Given the description of an element on the screen output the (x, y) to click on. 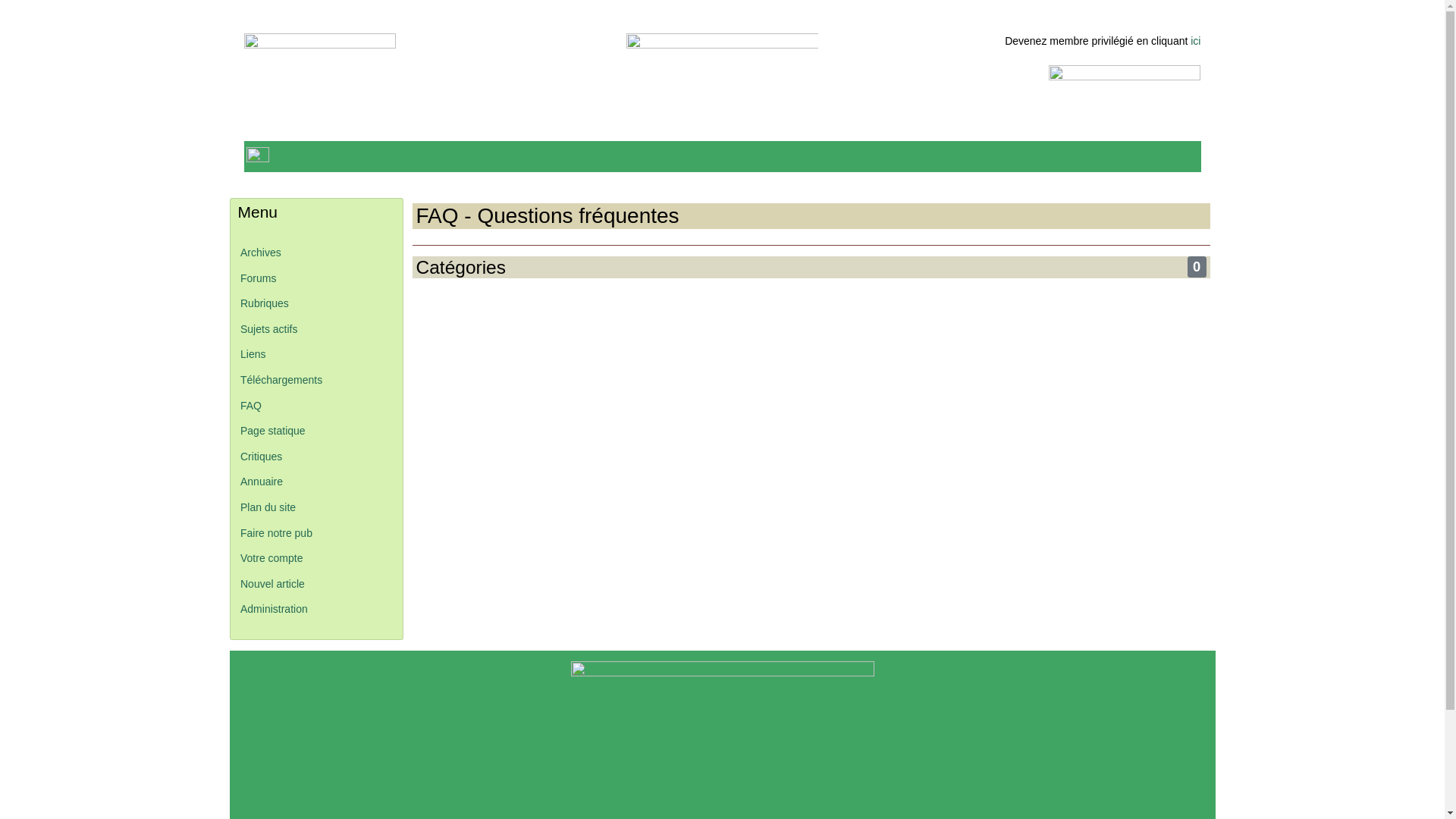
Administration Element type: text (273, 608)
Sujets actifs Element type: text (268, 329)
Nouvel article Element type: text (272, 583)
Critiques Element type: text (261, 456)
Plan du site Element type: text (267, 507)
Forums Element type: text (258, 278)
Archives Element type: text (260, 252)
Annuaire Element type: text (261, 481)
FAQ Element type: text (250, 405)
Liens Element type: text (252, 354)
Page statique Element type: text (272, 430)
ici Element type: text (1195, 40)
Votre compte Element type: text (271, 558)
Rubriques Element type: text (264, 303)
Faire notre pub Element type: text (276, 533)
